Given the description of an element on the screen output the (x, y) to click on. 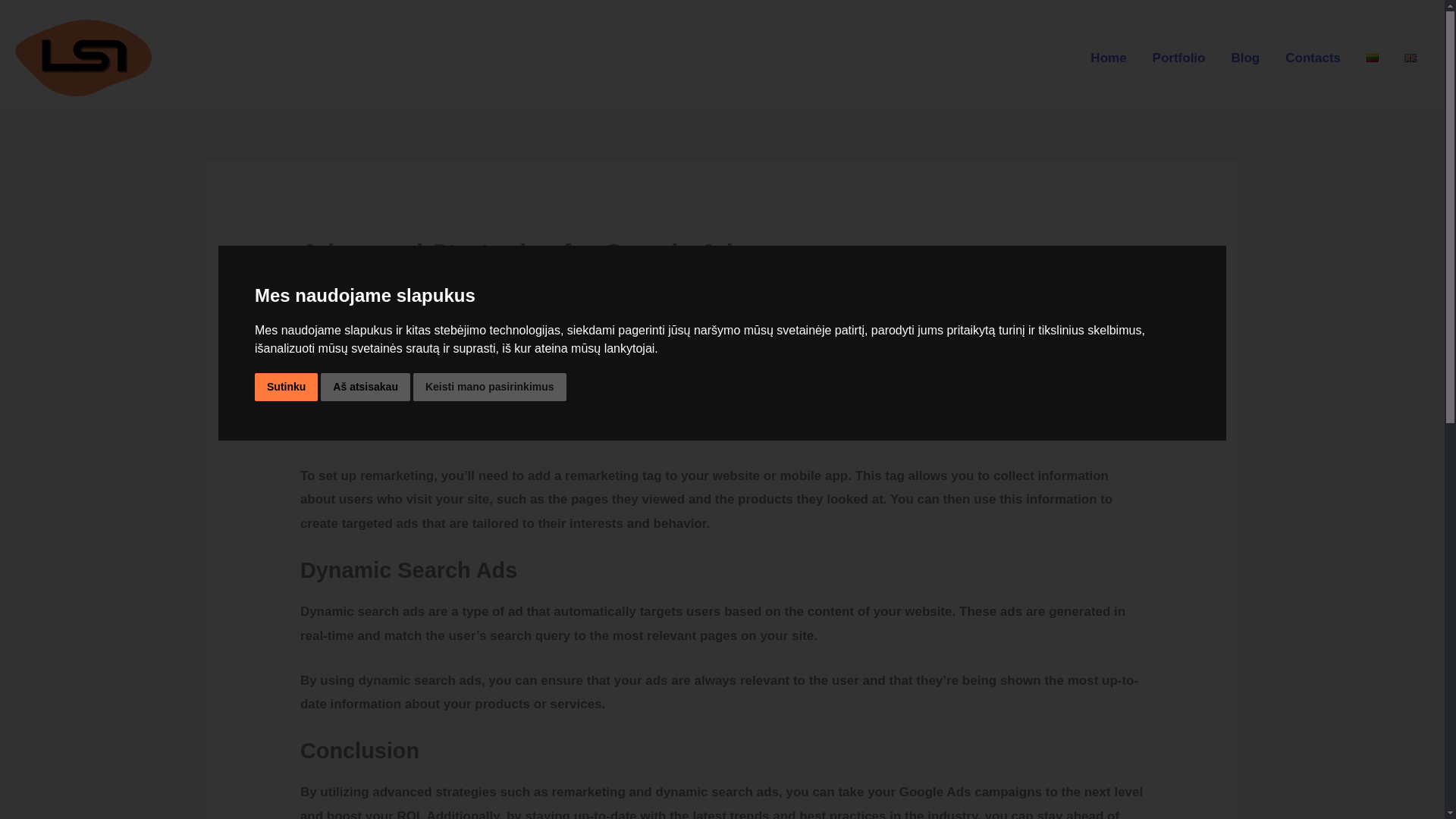
Portfolio (1179, 58)
Sutinku (285, 387)
Blog (1244, 58)
Home (1107, 58)
Contacts (1313, 58)
Keisti mano pasirinkimus (489, 387)
